Given the description of an element on the screen output the (x, y) to click on. 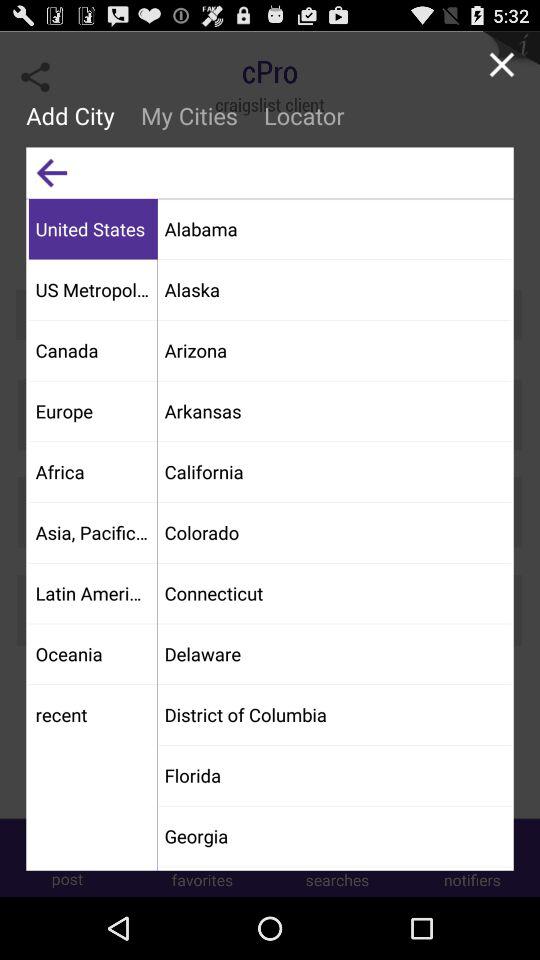
launch button to the right of the locator (501, 63)
